Given the description of an element on the screen output the (x, y) to click on. 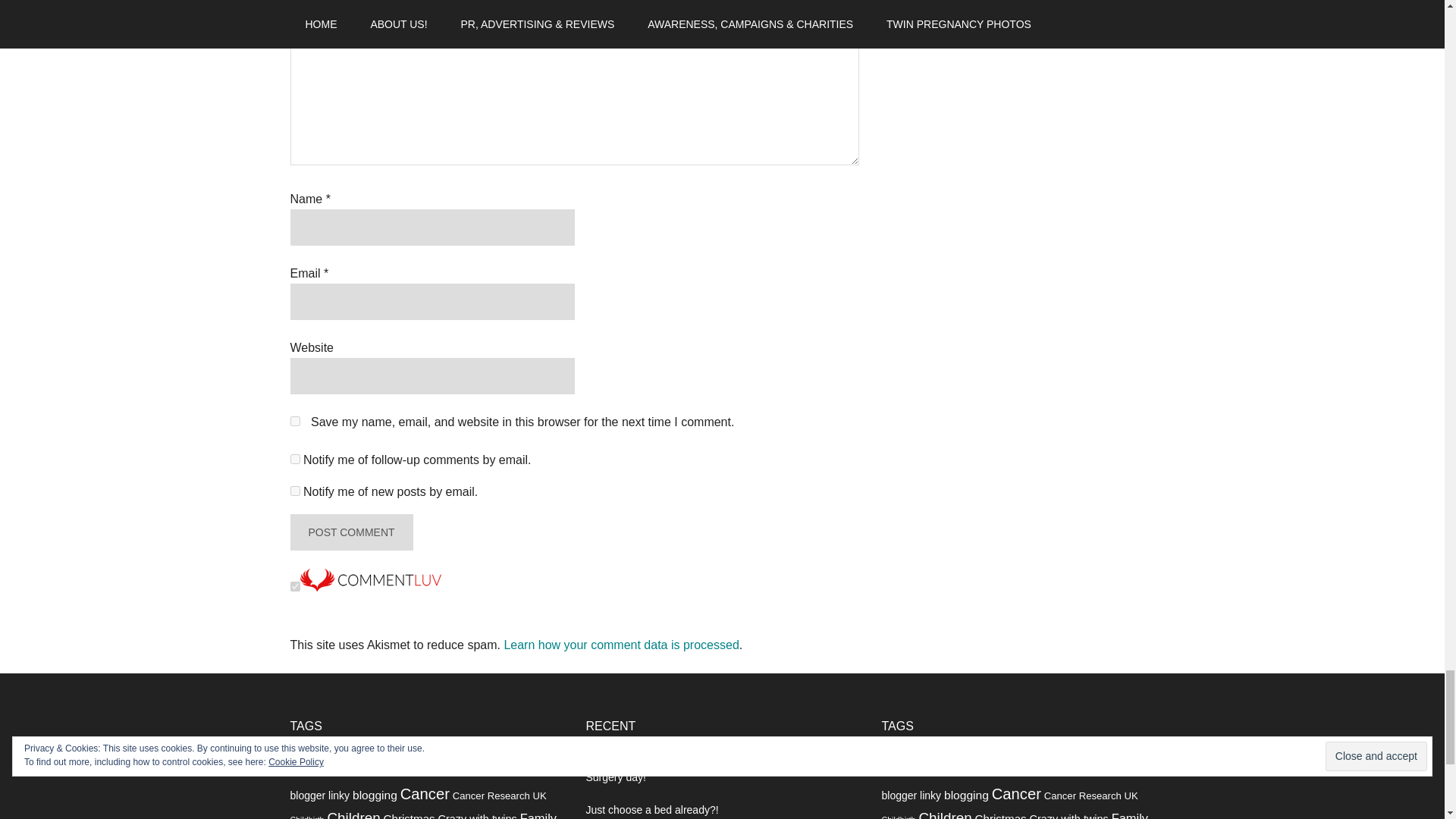
yes (294, 420)
Post Comment (350, 532)
subscribe (294, 459)
on (294, 586)
subscribe (294, 491)
